Given the description of an element on the screen output the (x, y) to click on. 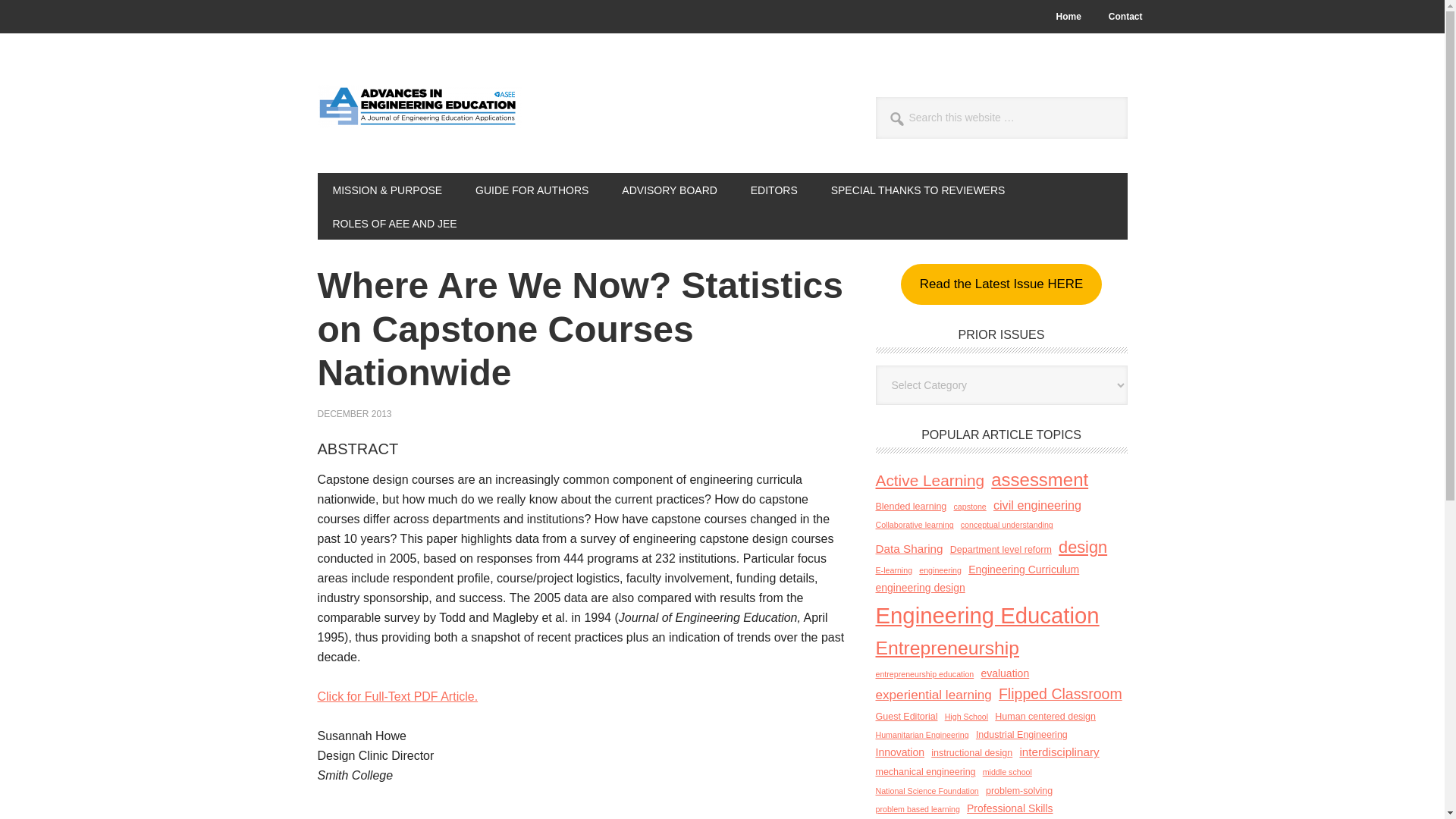
Engineering Education (987, 615)
experiential learning (933, 694)
Active Learning (929, 480)
entrepreneurship education (924, 674)
ADVISORY BOARD (669, 189)
evaluation (1004, 673)
civil engineering (1036, 505)
Flipped Classroom (1060, 694)
Entrepreneurship (947, 648)
Read the Latest Issue HERE (1001, 283)
High School (966, 716)
Click for Full-Text PDF Article. (397, 696)
GUIDE FOR AUTHORS (532, 189)
assessment (1039, 480)
SPECIAL THANKS TO REVIEWERS (917, 189)
